Given the description of an element on the screen output the (x, y) to click on. 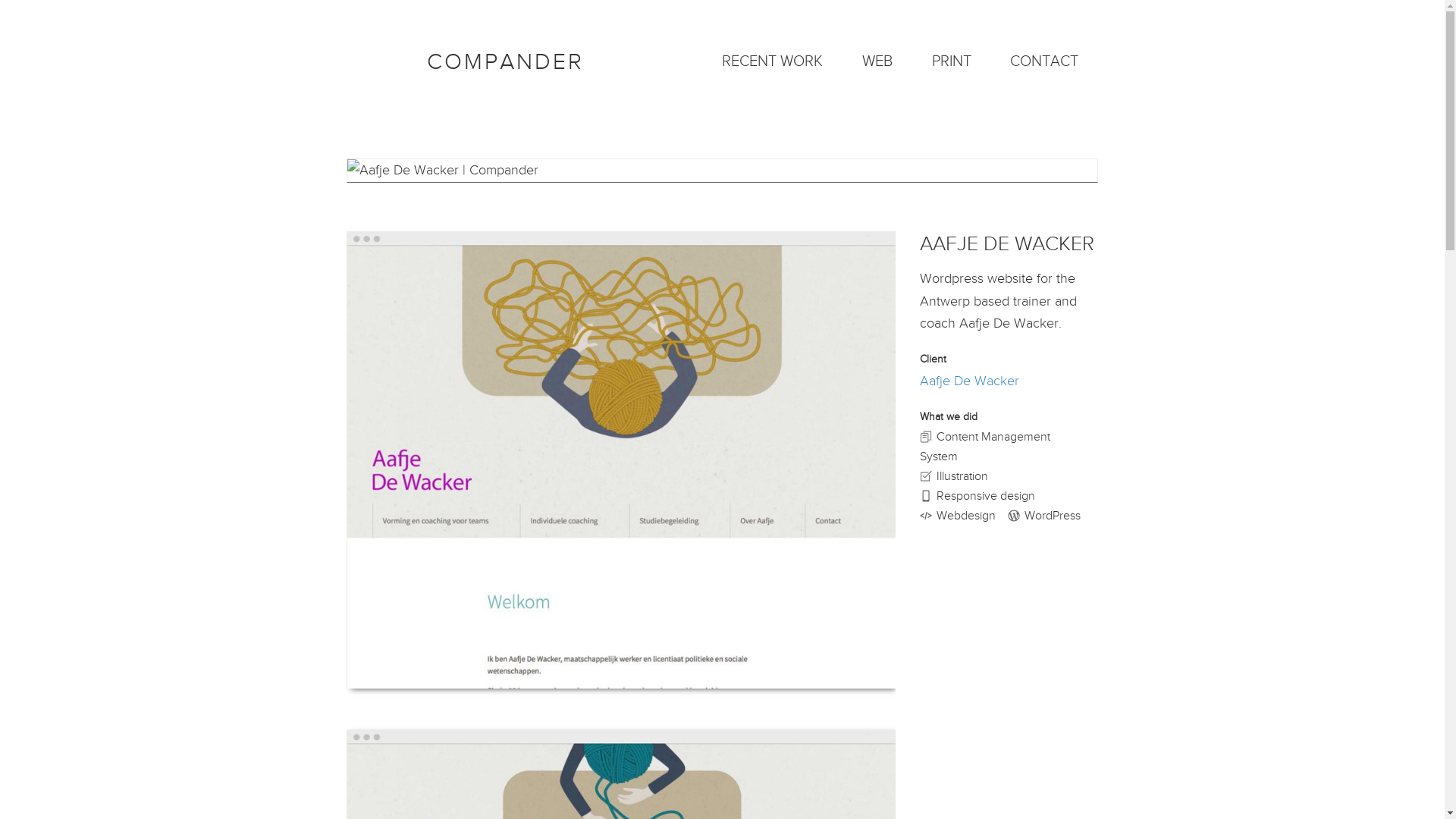
WEB Element type: text (877, 61)
Content Management System Element type: text (984, 446)
CONTACT Element type: text (1044, 61)
COMPANDER Element type: text (504, 61)
Compander Element type: hover (375, 61)
RECENT WORK Element type: text (772, 61)
PRINT Element type: text (951, 61)
Responsive design Element type: text (977, 496)
Webdesign Element type: text (957, 515)
WordPress Element type: text (1043, 515)
Illustration Element type: text (953, 476)
Aafje De Wacker Element type: text (969, 381)
